Given the description of an element on the screen output the (x, y) to click on. 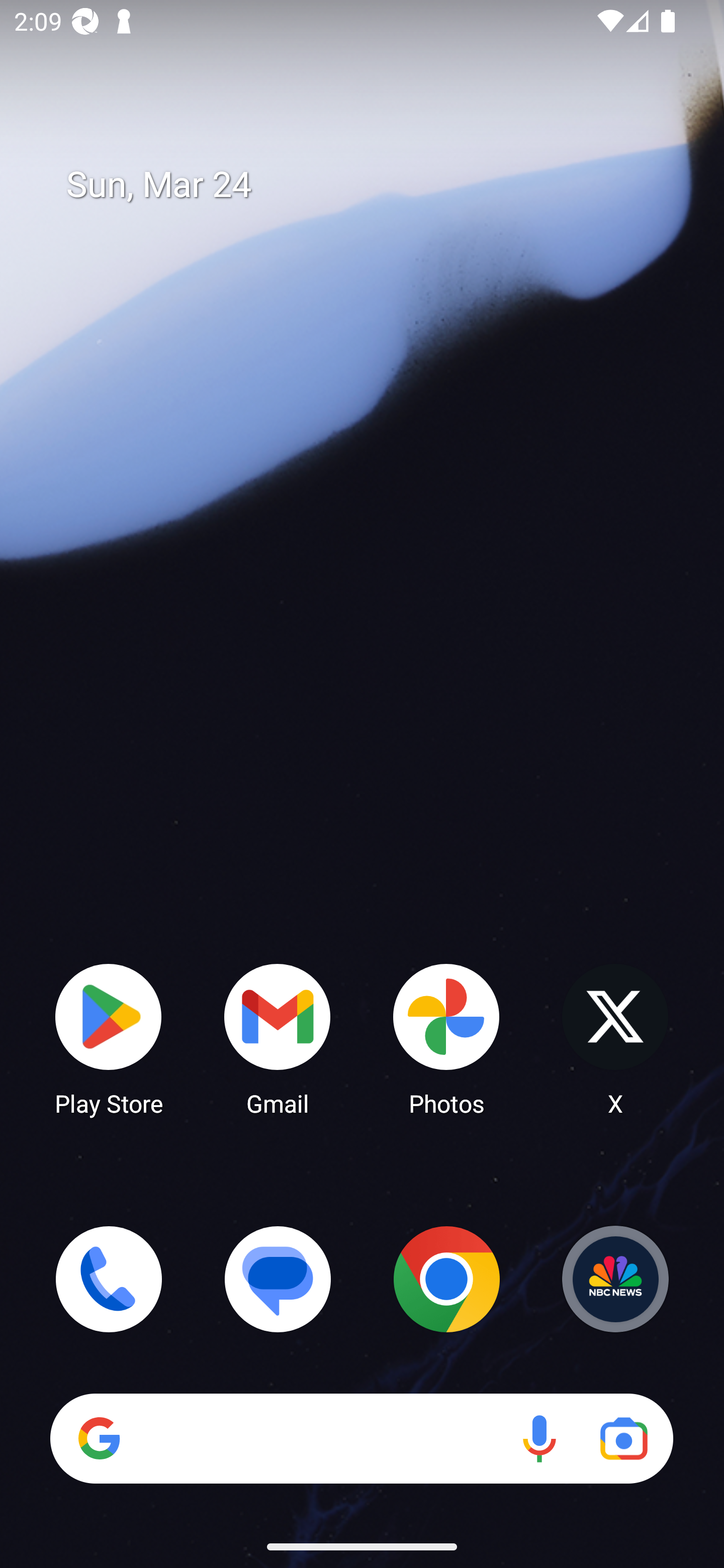
Sun, Mar 24 (375, 184)
Play Store (108, 1038)
Gmail (277, 1038)
Photos (445, 1038)
X (615, 1038)
Phone (108, 1279)
Messages (277, 1279)
Chrome (446, 1279)
NBC NEWS Predicted app: NBC NEWS (615, 1279)
Voice search (539, 1438)
Google Lens (623, 1438)
